Given the description of an element on the screen output the (x, y) to click on. 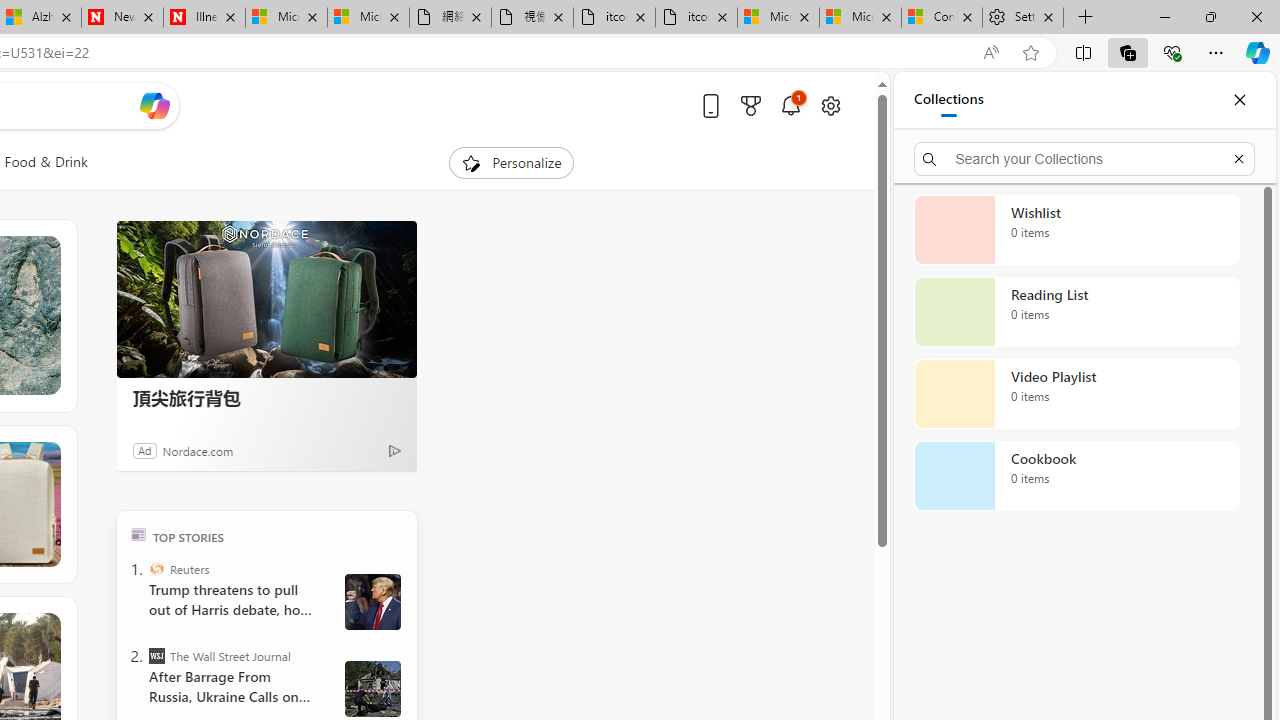
Consumer Health Data Privacy Policy (941, 17)
itconcepthk.com/projector_solutions.mp4 (696, 17)
